Given the description of an element on the screen output the (x, y) to click on. 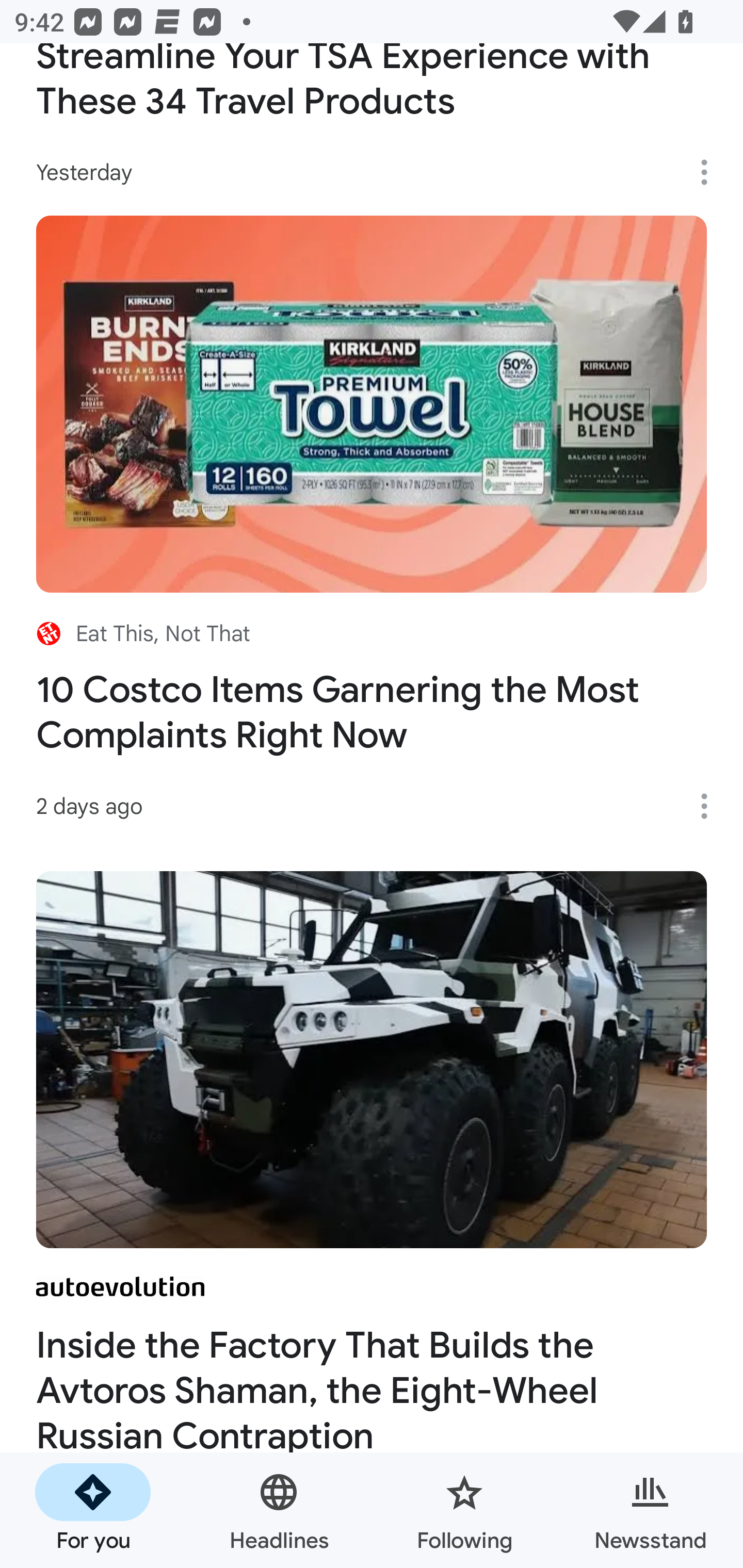
More options (711, 172)
More options (711, 805)
For you (92, 1509)
Headlines (278, 1509)
Following (464, 1509)
Newsstand (650, 1509)
